Given the description of an element on the screen output the (x, y) to click on. 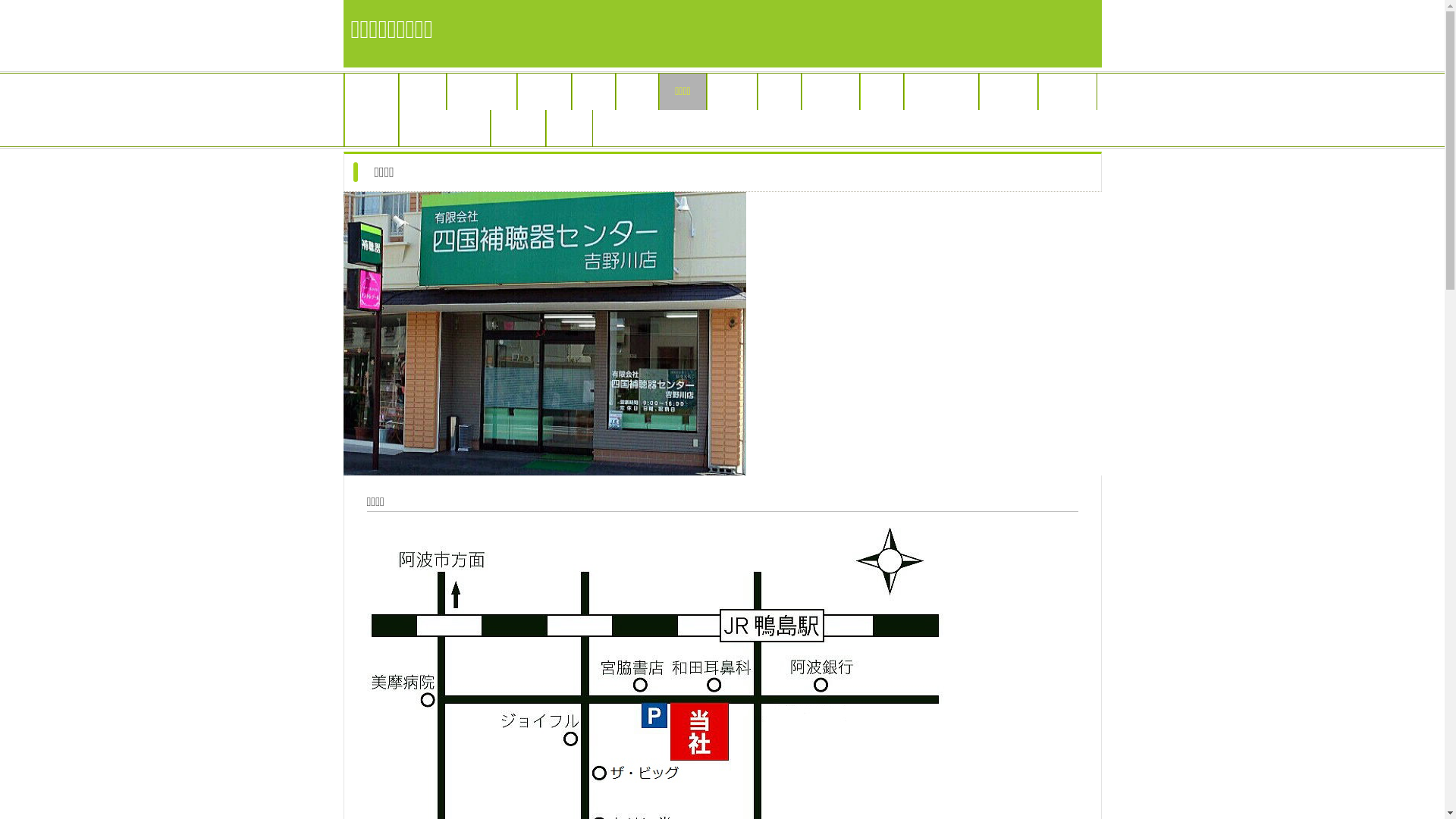
LINK Element type: text (1067, 91)
Facebook Element type: text (941, 91)
